Given the description of an element on the screen output the (x, y) to click on. 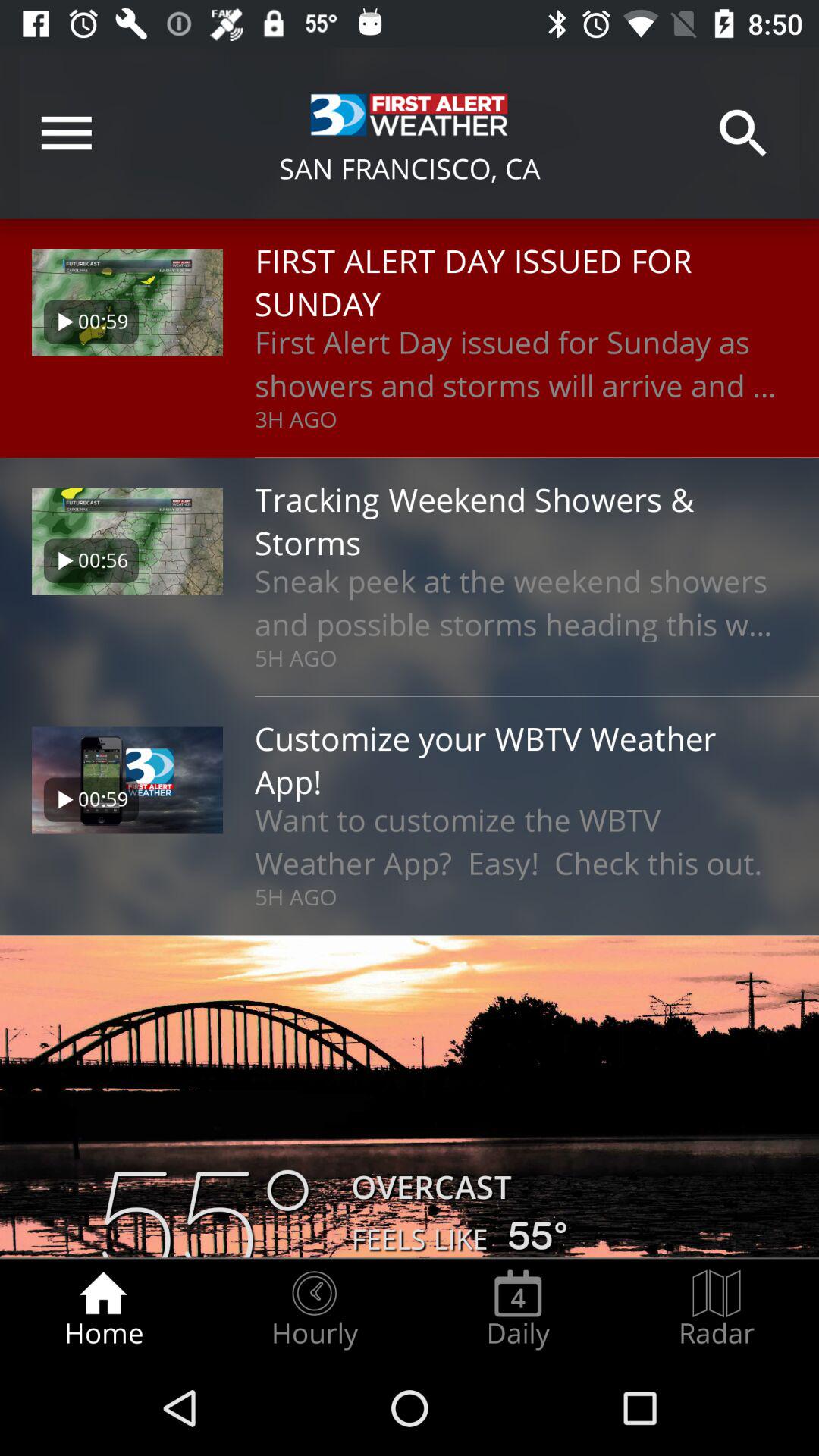
launch the radio button to the right of hourly (518, 1309)
